Given the description of an element on the screen output the (x, y) to click on. 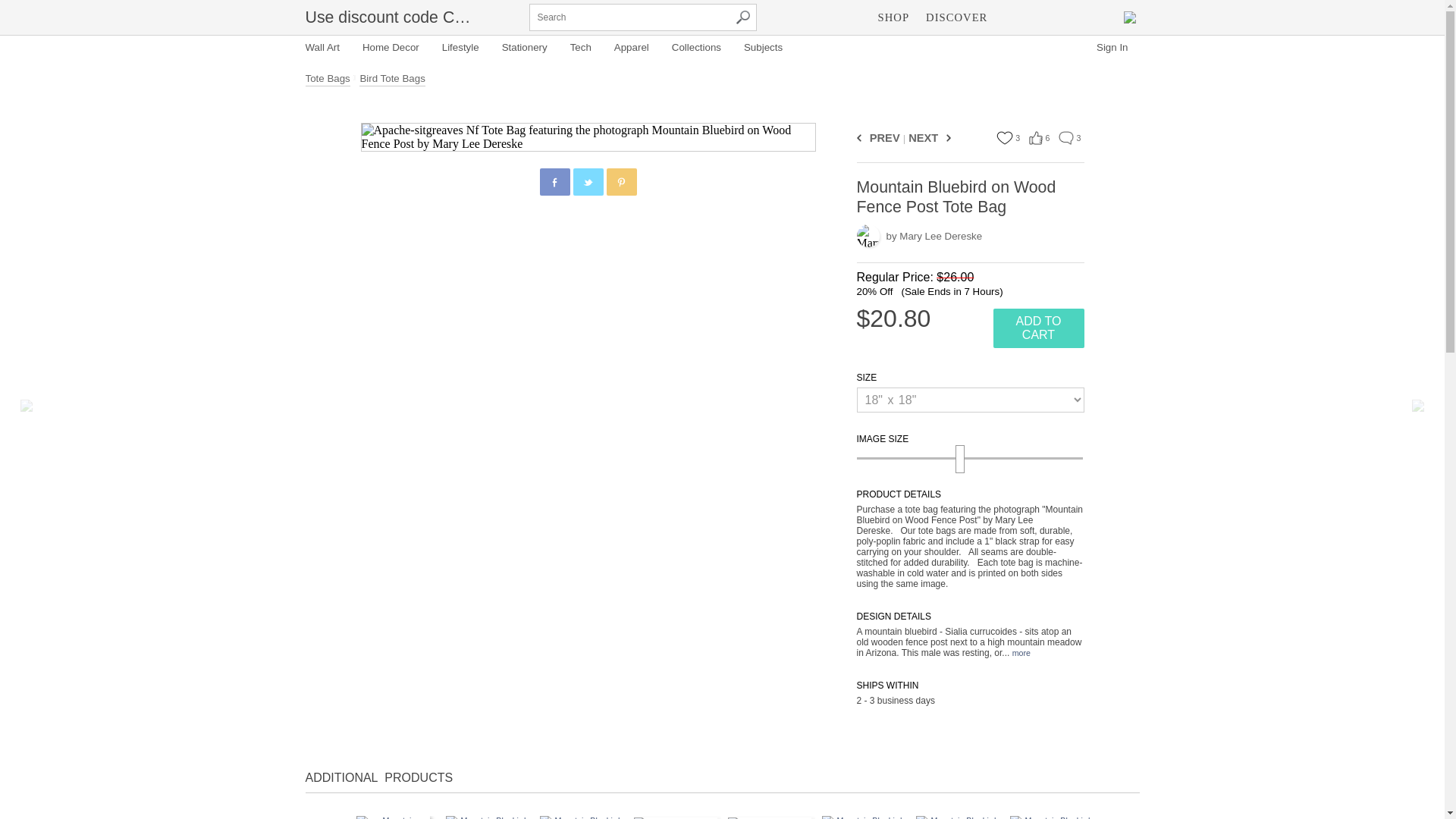
Share Product on Twitter (588, 181)
Favorite (1003, 137)
Pinterest (621, 182)
Mary Lee Dereske (868, 235)
Comment (1065, 137)
SHOP (892, 16)
Share Product on Pinterest (622, 181)
Facebook (555, 182)
Share Product on Facebook (555, 181)
Search (742, 17)
